Given the description of an element on the screen output the (x, y) to click on. 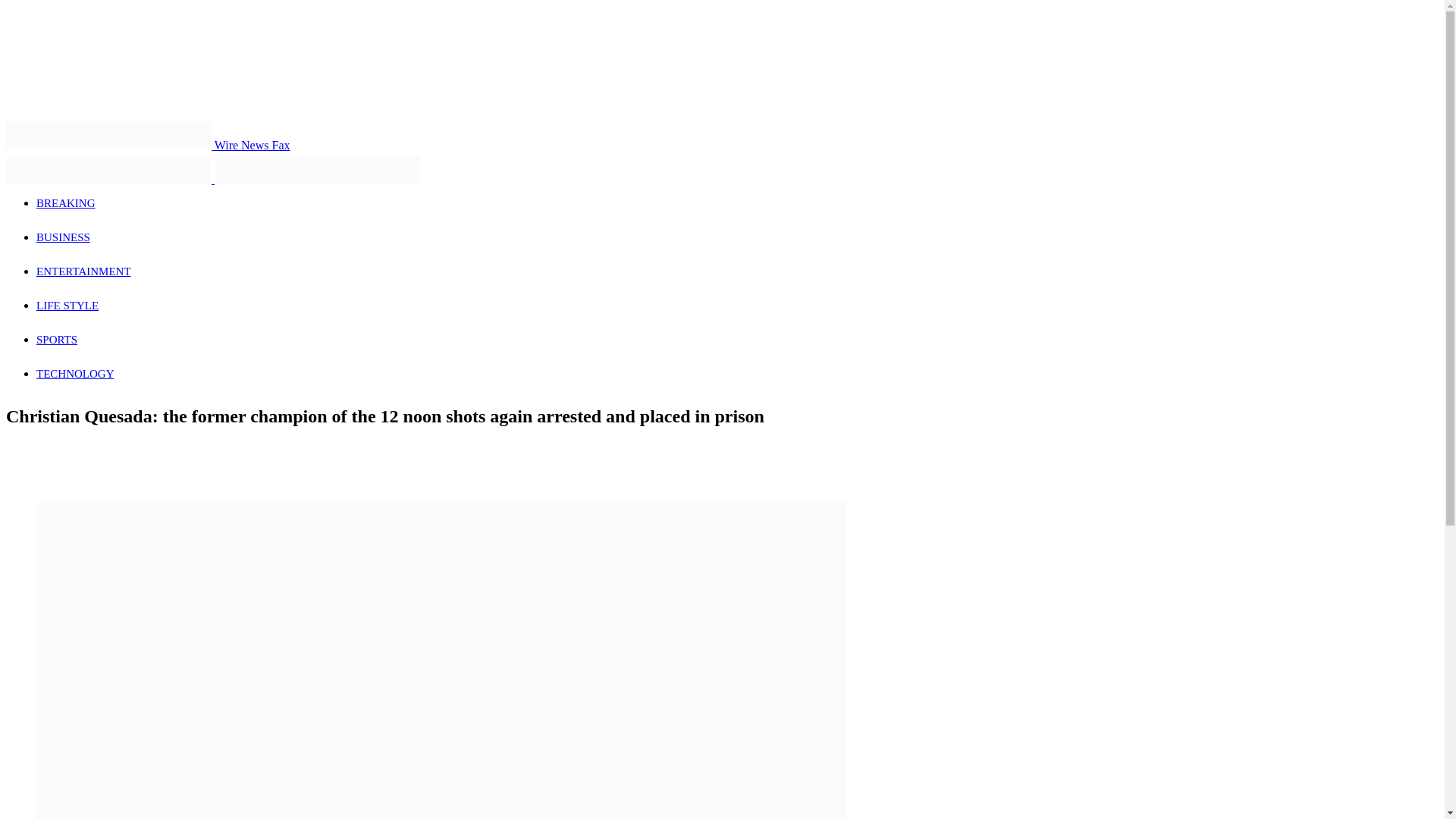
ENTERTAINMENT (83, 271)
Your Fastest Source for Reliable News (108, 135)
Your Fastest Source for Reliable News (108, 169)
BREAKING (66, 203)
LIFE STYLE (67, 305)
Wire News Fax (147, 144)
Your Fastest Source for Reliable News (317, 169)
SPORTS (56, 339)
TECHNOLOGY (75, 373)
BUSINESS (63, 236)
